Given the description of an element on the screen output the (x, y) to click on. 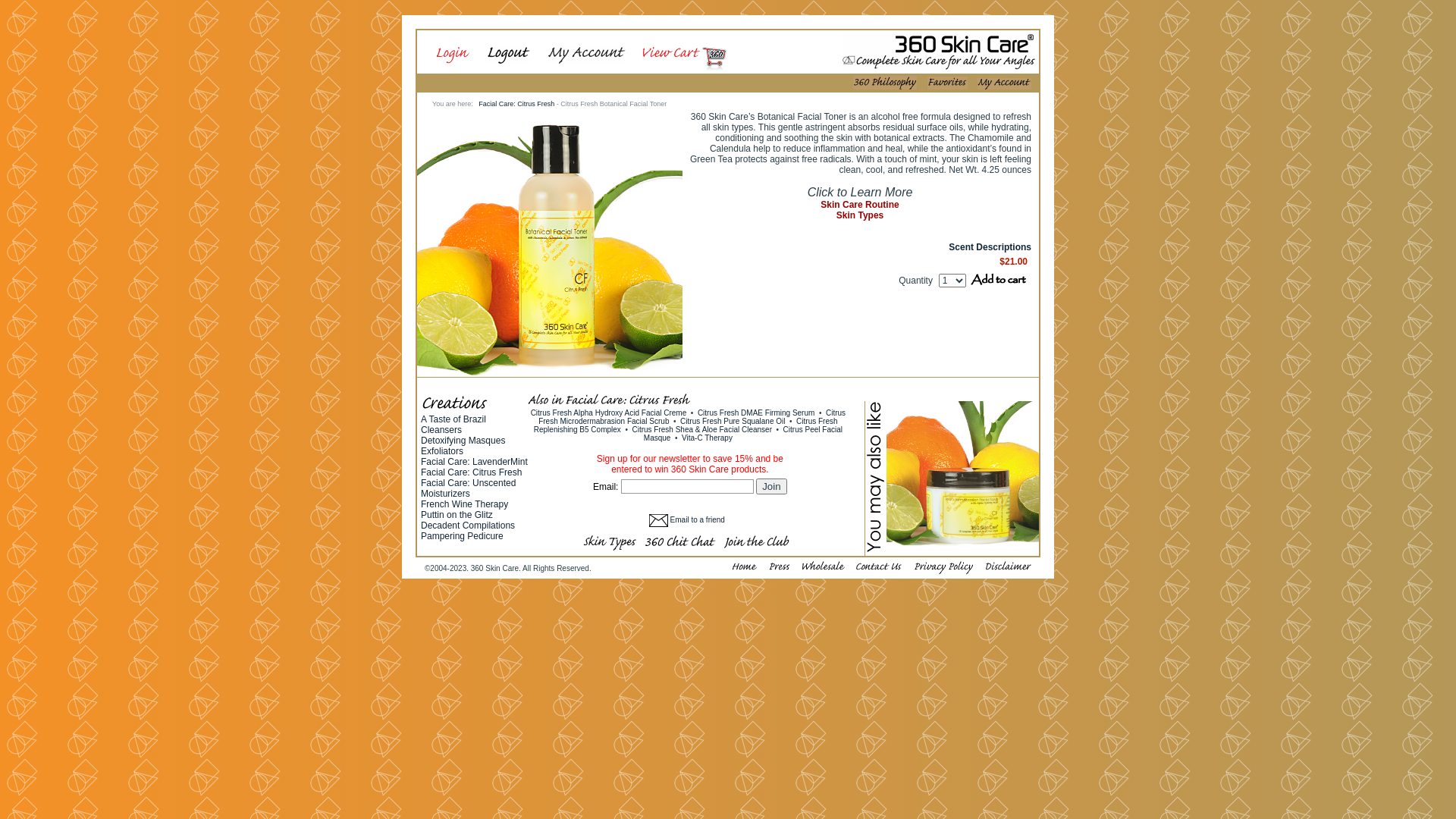
Skin Care Routine Element type: text (859, 204)
A Taste of Brazil Element type: text (453, 419)
Detoxifying Masques Element type: text (462, 440)
Citrus Fresh Pure Squalane Oil Element type: text (733, 421)
Decadent Compilations Element type: text (467, 525)
French Wine Therapy Element type: text (464, 504)
Pampering Pedicure Element type: text (461, 536)
Join Element type: text (771, 486)
Citrus Fresh Shea & Aloe Facial Cleanser Element type: text (702, 429)
Facial Care: LavenderMint Element type: text (473, 462)
Vita-C Therapy Element type: text (706, 437)
Email to a friend Element type: text (690, 519)
Citrus Fresh Replenishing B5 Complex Element type: text (685, 425)
Citrus Fresh DMAE Firming Serum Element type: text (756, 412)
Facial Care: Citrus Fresh Element type: text (470, 472)
Skin Types Element type: text (859, 215)
Facial Care: Citrus Fresh Element type: text (516, 103)
Citrus Fresh Microdermabrasion Facial Scrub Element type: text (691, 416)
Scent Descriptions Element type: text (989, 246)
Citrus Fresh Microdermabrasion Facial Scrub   Element type: hover (962, 550)
Puttin on the Glitz Element type: text (456, 515)
Citrus Fresh Alpha Hydroxy Acid Facial Creme Element type: text (609, 412)
Facial Care: Unscented Element type: text (467, 483)
Cleansers Element type: text (440, 430)
Citrus Peel Facial Masque Element type: text (742, 433)
Moisturizers Element type: text (445, 493)
Exfoliators Element type: text (441, 451)
